Given the description of an element on the screen output the (x, y) to click on. 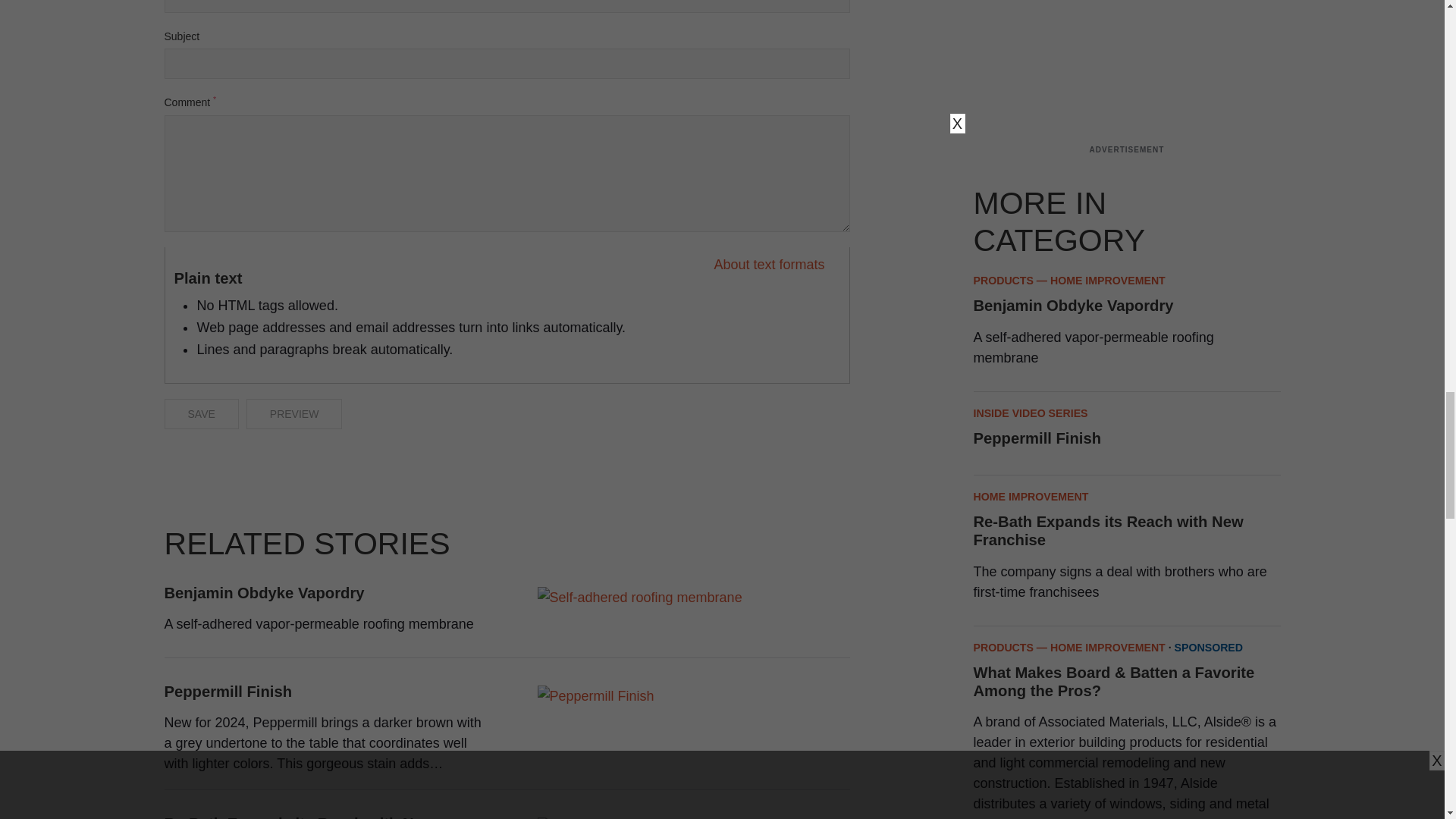
Preview (294, 413)
Save (200, 413)
3rd party ad content (506, 483)
Photo Credit: Benjamin Obdyke (639, 597)
Peppermill Finish (594, 696)
Photo credit: Re-Bath (612, 812)
3rd party ad content (1126, 57)
